Given the description of an element on the screen output the (x, y) to click on. 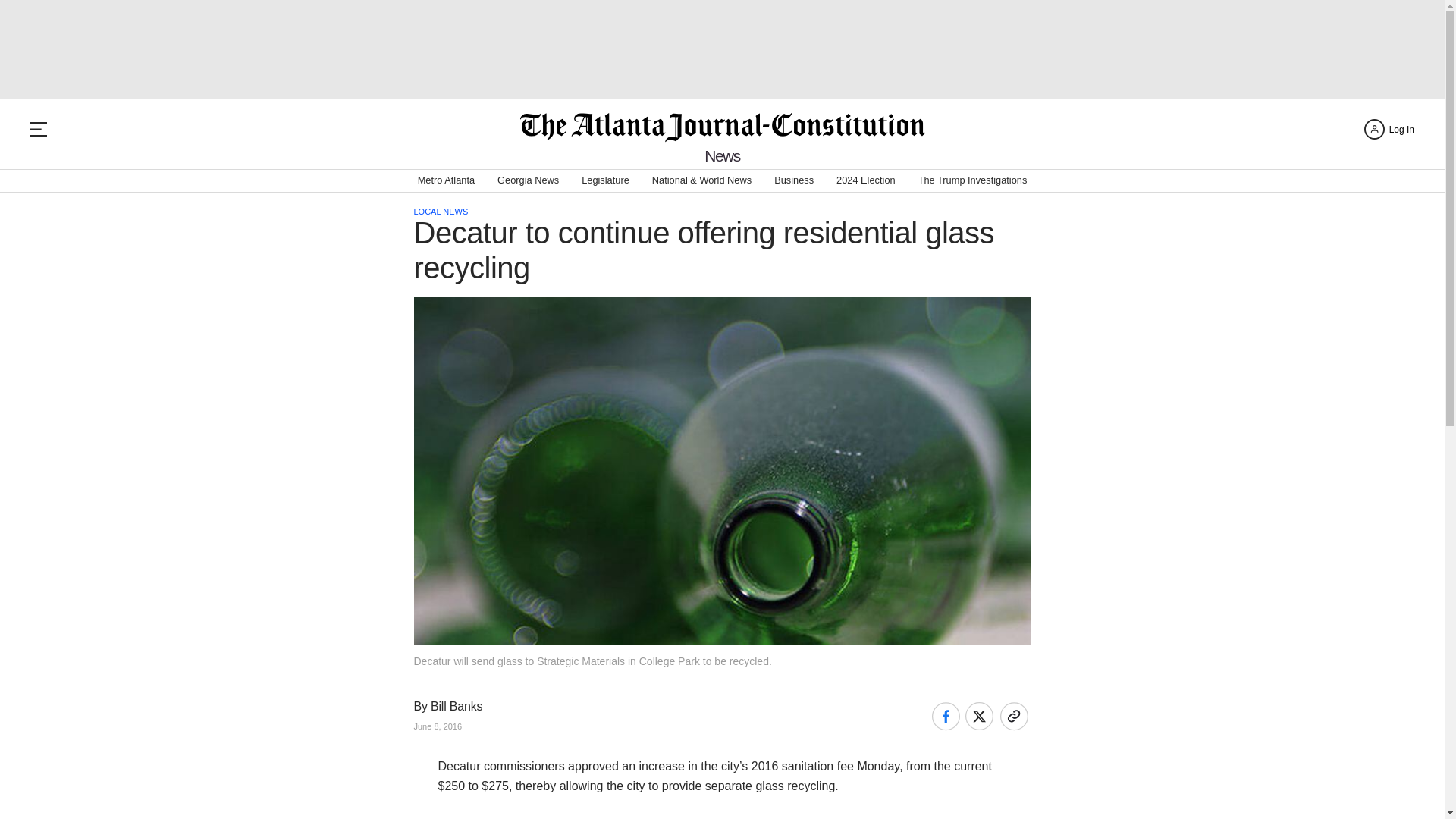
News (721, 155)
Legislature (604, 180)
The Trump Investigations (972, 180)
Metro Atlanta (445, 180)
Georgia News (528, 180)
2024 Election (865, 180)
Business (793, 180)
